Given the description of an element on the screen output the (x, y) to click on. 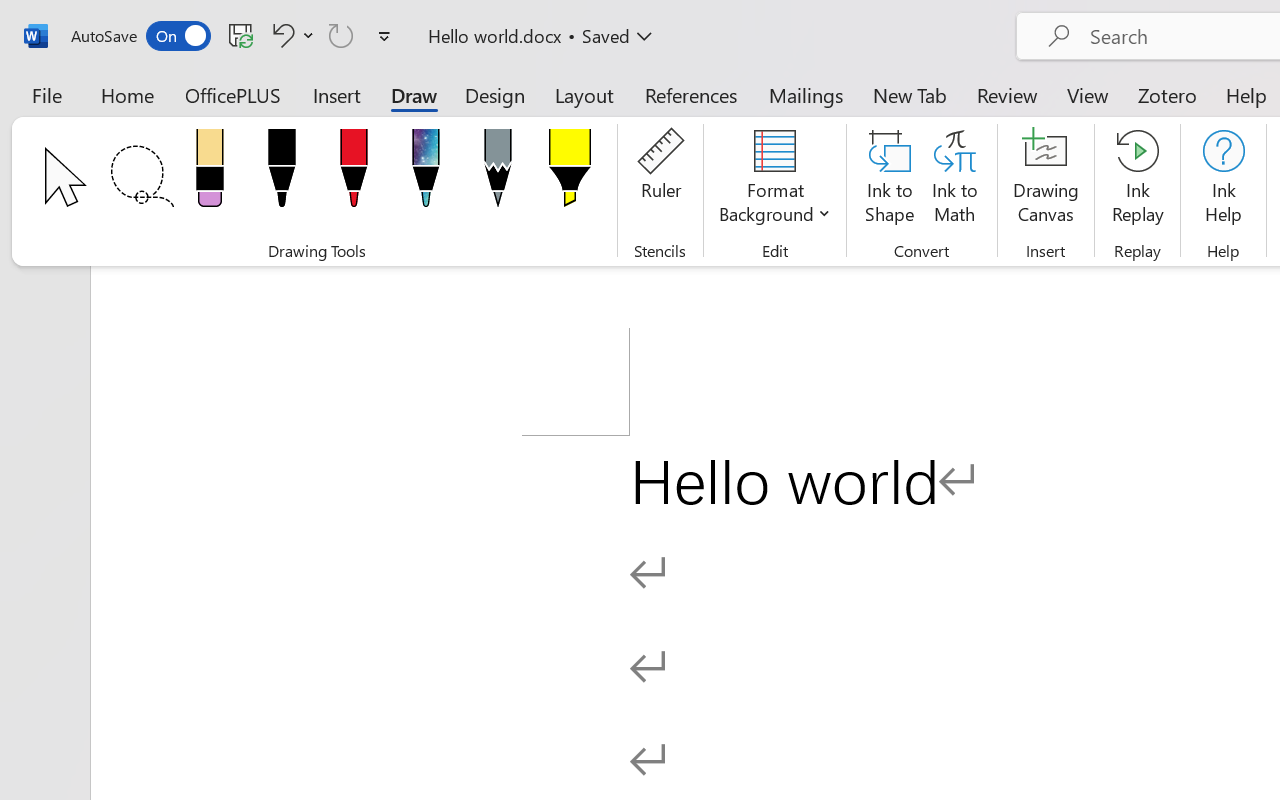
Save as Show (539, 114)
